Given the description of an element on the screen output the (x, y) to click on. 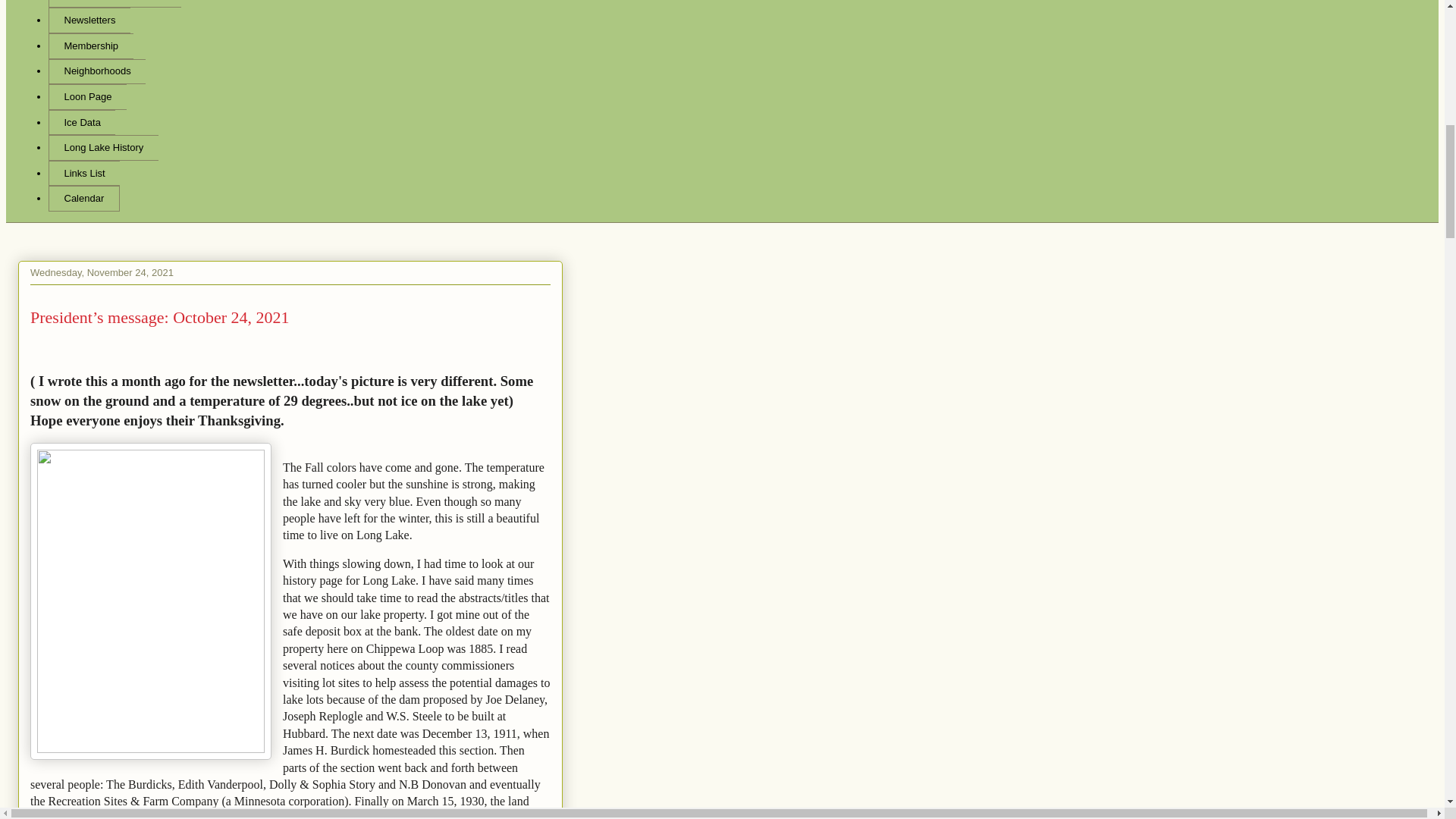
Membership (90, 45)
Calendar (83, 198)
Ice Data (81, 122)
Neighborhoods (96, 71)
Links List (83, 173)
Long Lake History (103, 147)
Loon Page (87, 96)
Newsletters (89, 20)
Board Communications (114, 4)
